Given the description of an element on the screen output the (x, y) to click on. 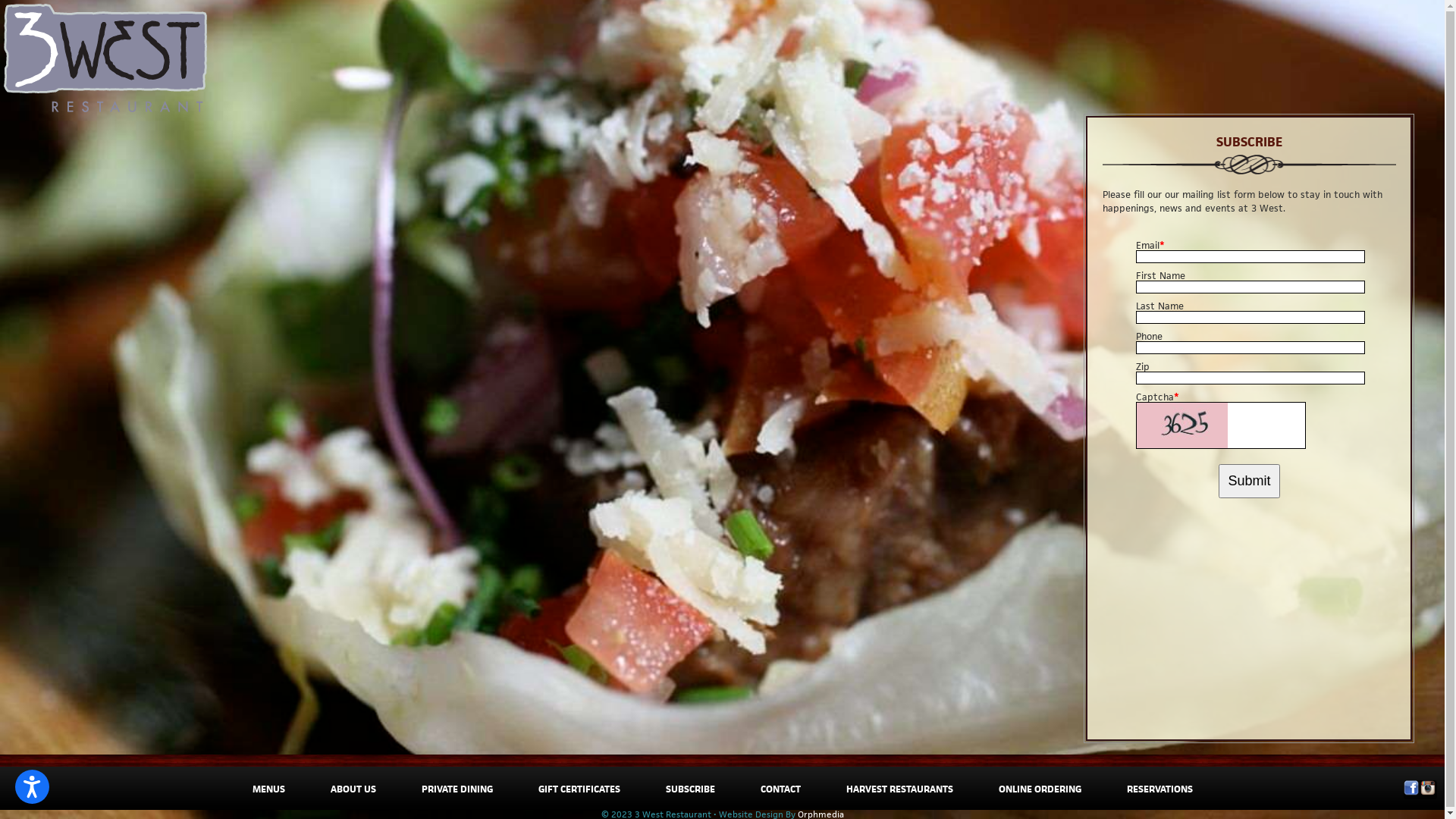
3 West Restaurant|Basking Ridge|Italian Element type: hover (105, 57)
ONLINE ORDERING Element type: text (1038, 788)
Instagram Element type: hover (1427, 791)
SUBSCRIBE Element type: text (690, 788)
MENUS Element type: text (267, 788)
PRIVATE DINING Element type: text (456, 788)
CONTACT Element type: text (779, 788)
Submit Element type: text (1248, 481)
ABOUT US Element type: text (353, 788)
HARVEST RESTAURANTS Element type: text (899, 788)
GIFT CERTIFICATES Element type: text (579, 788)
Facebook Element type: hover (1410, 791)
RESERVATIONS Element type: text (1159, 788)
